Given the description of an element on the screen output the (x, y) to click on. 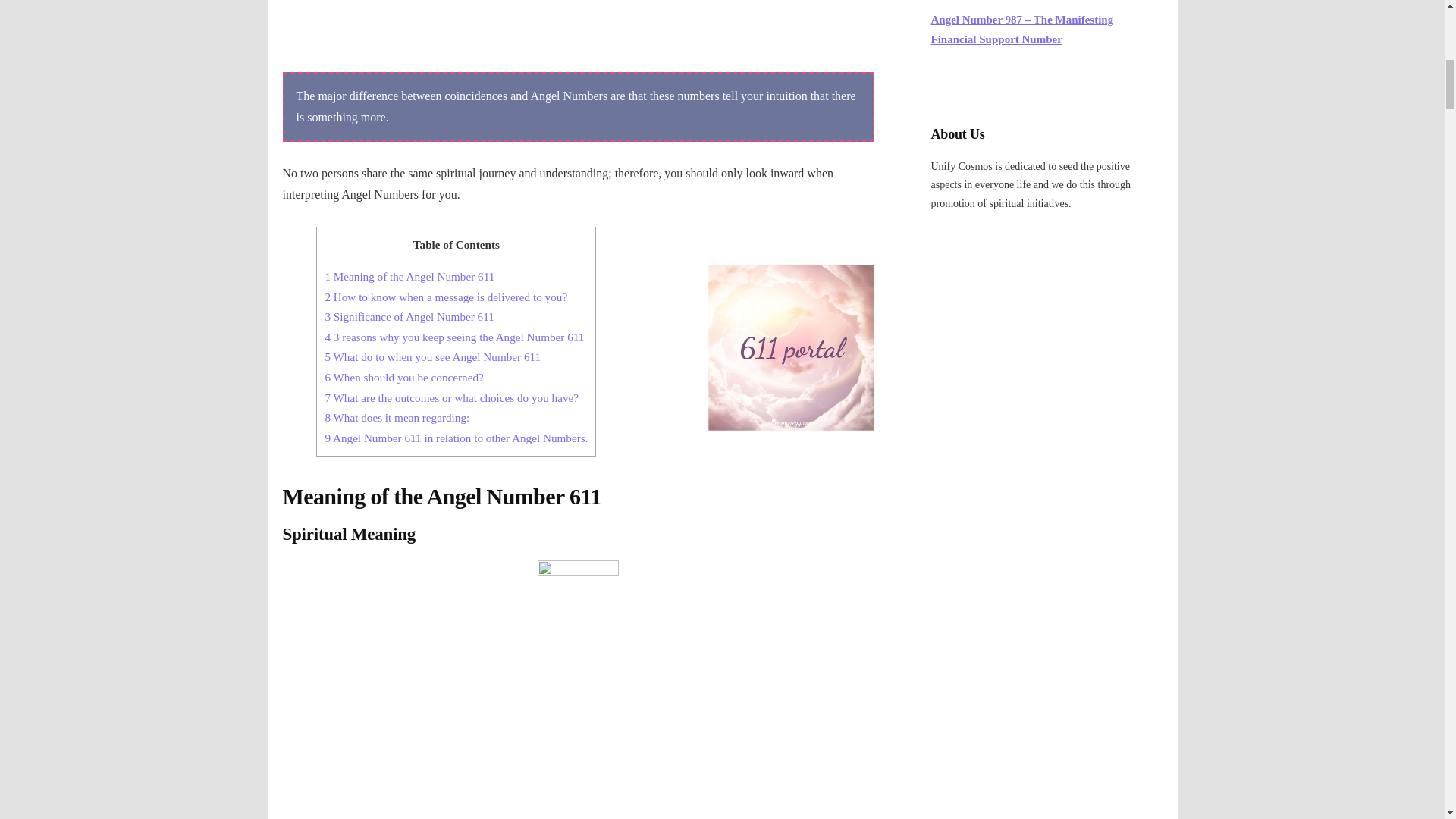
2 How to know when a message is delivered to you? (445, 296)
7 What are the outcomes or what choices do you have?   (453, 397)
6 When should you be concerned? (403, 377)
8 What does it mean regarding: (396, 417)
5 What do to when you see Angel Number 611 (432, 356)
3 Significance of Angel Number 611 (408, 316)
9 Angel Number 611 in relation to other Angel Numbers. (456, 437)
4 3 reasons why you keep seeing the Angel Number 611 (453, 336)
1 Meaning of the Angel Number 611 (409, 276)
